Given the description of an element on the screen output the (x, y) to click on. 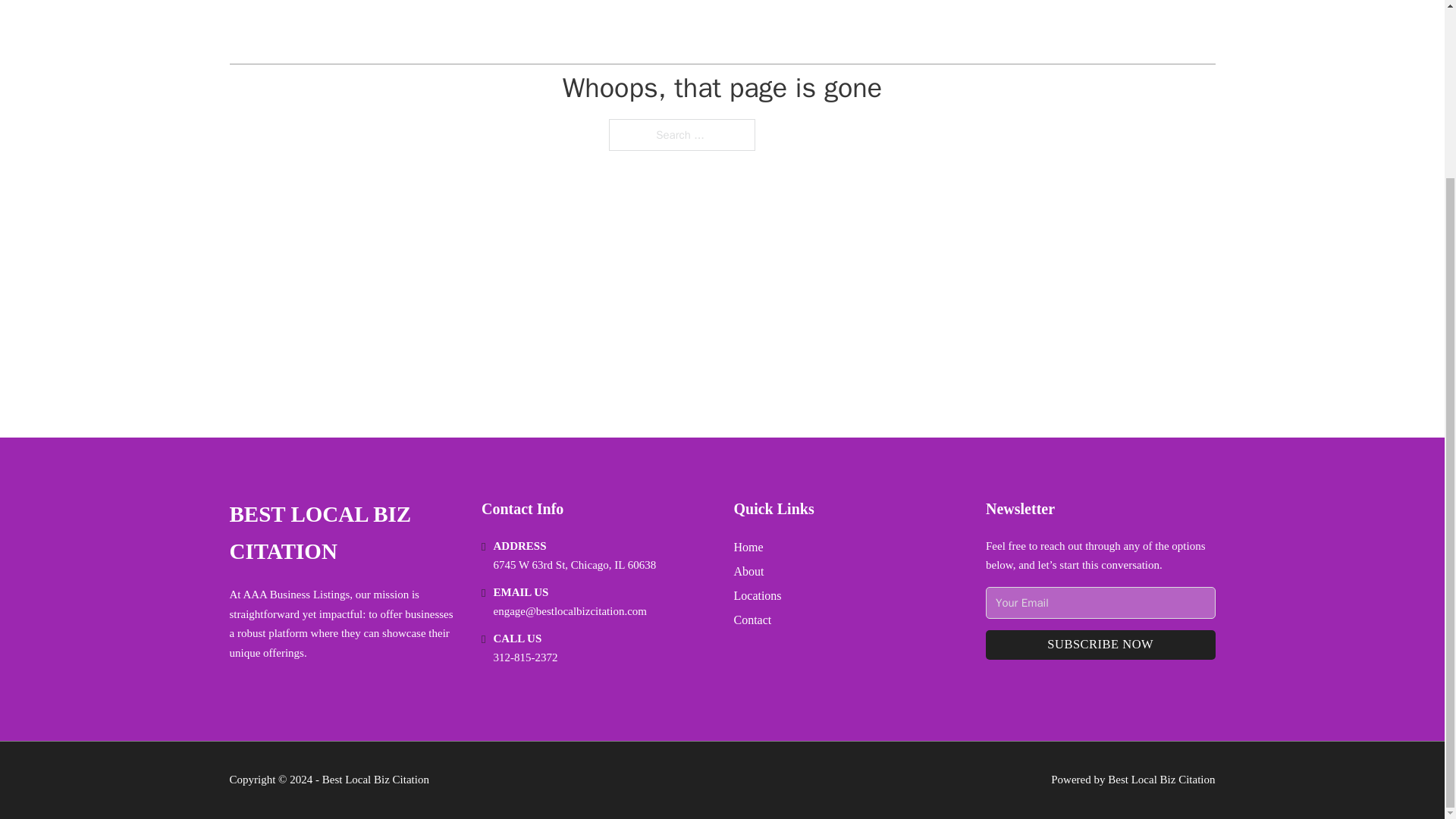
Home (747, 547)
About (748, 571)
Contact (752, 619)
BEST LOCAL BIZ CITATION (343, 533)
SUBSCRIBE NOW (1100, 644)
Locations (757, 595)
312-815-2372 (525, 657)
